Given the description of an element on the screen output the (x, y) to click on. 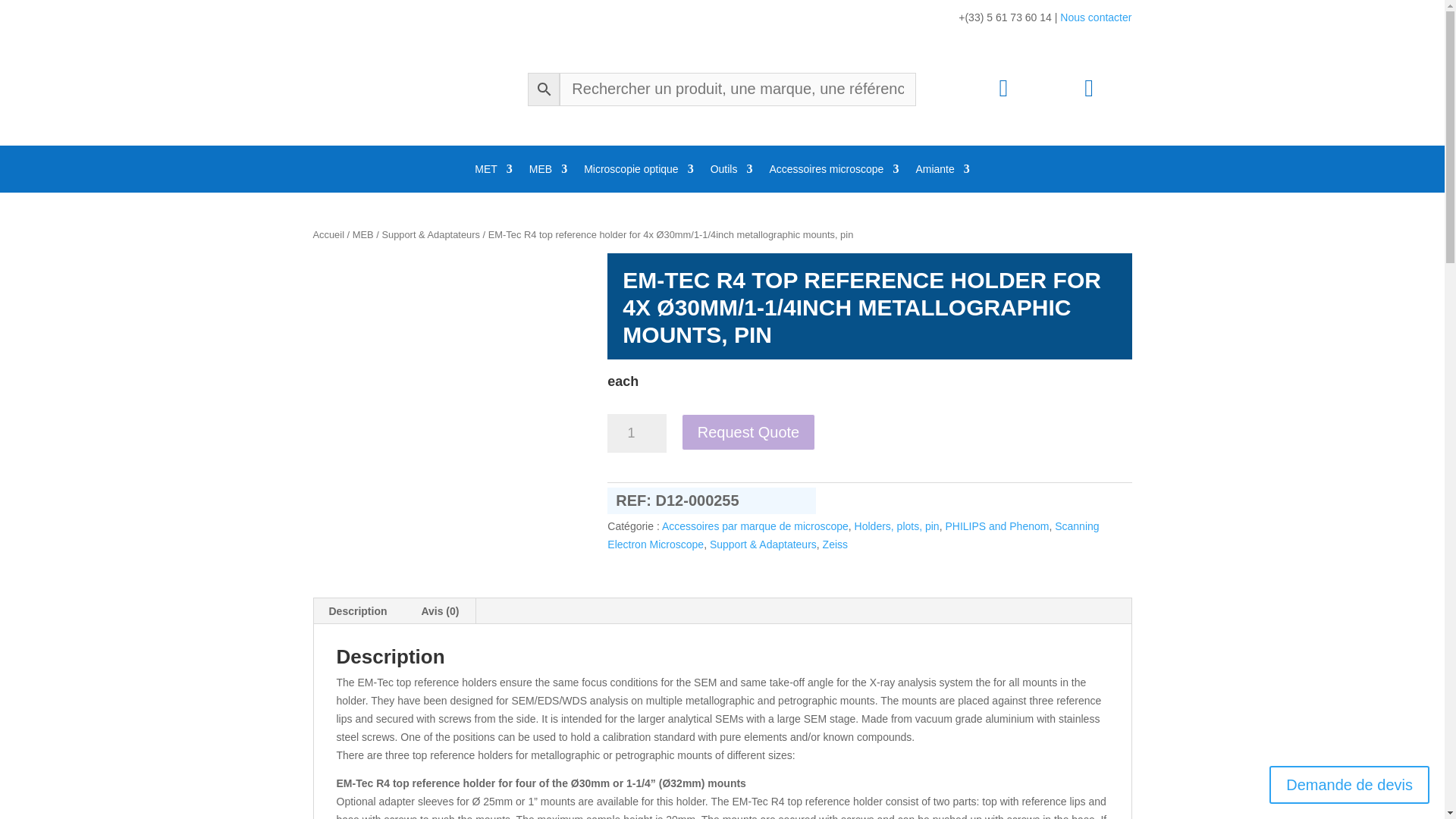
Outils (731, 171)
Microscopie optique (638, 171)
Demande de devis (1349, 784)
Logo Delta Microsocopies (350, 89)
Accessoires par marque de microscope (755, 526)
Nous contacter (1095, 17)
Accueil (328, 234)
MET (493, 171)
PHILIPS and Phenom (996, 526)
Request Quote (748, 432)
